Given the description of an element on the screen output the (x, y) to click on. 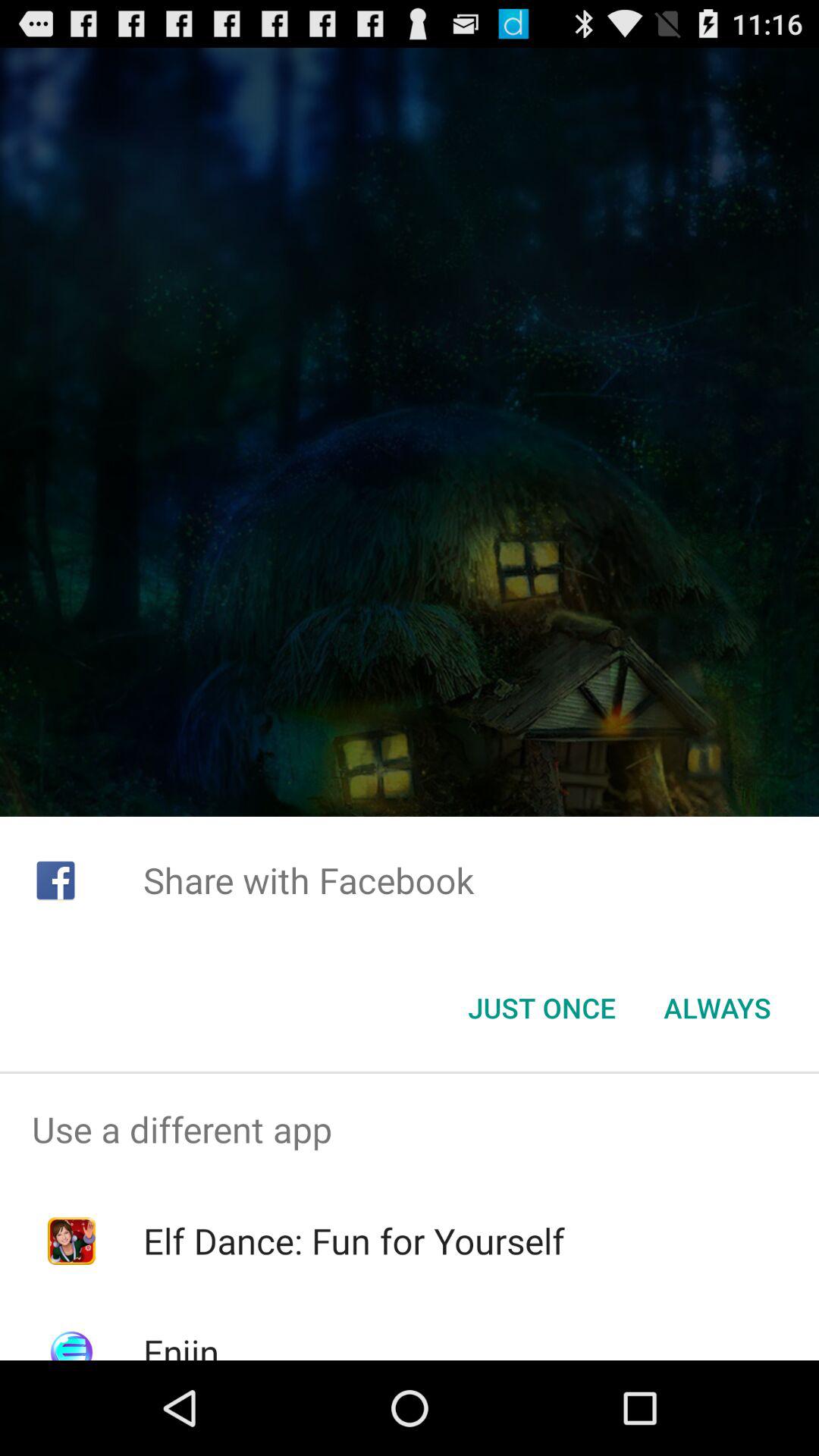
turn off enjin item (180, 1344)
